Given the description of an element on the screen output the (x, y) to click on. 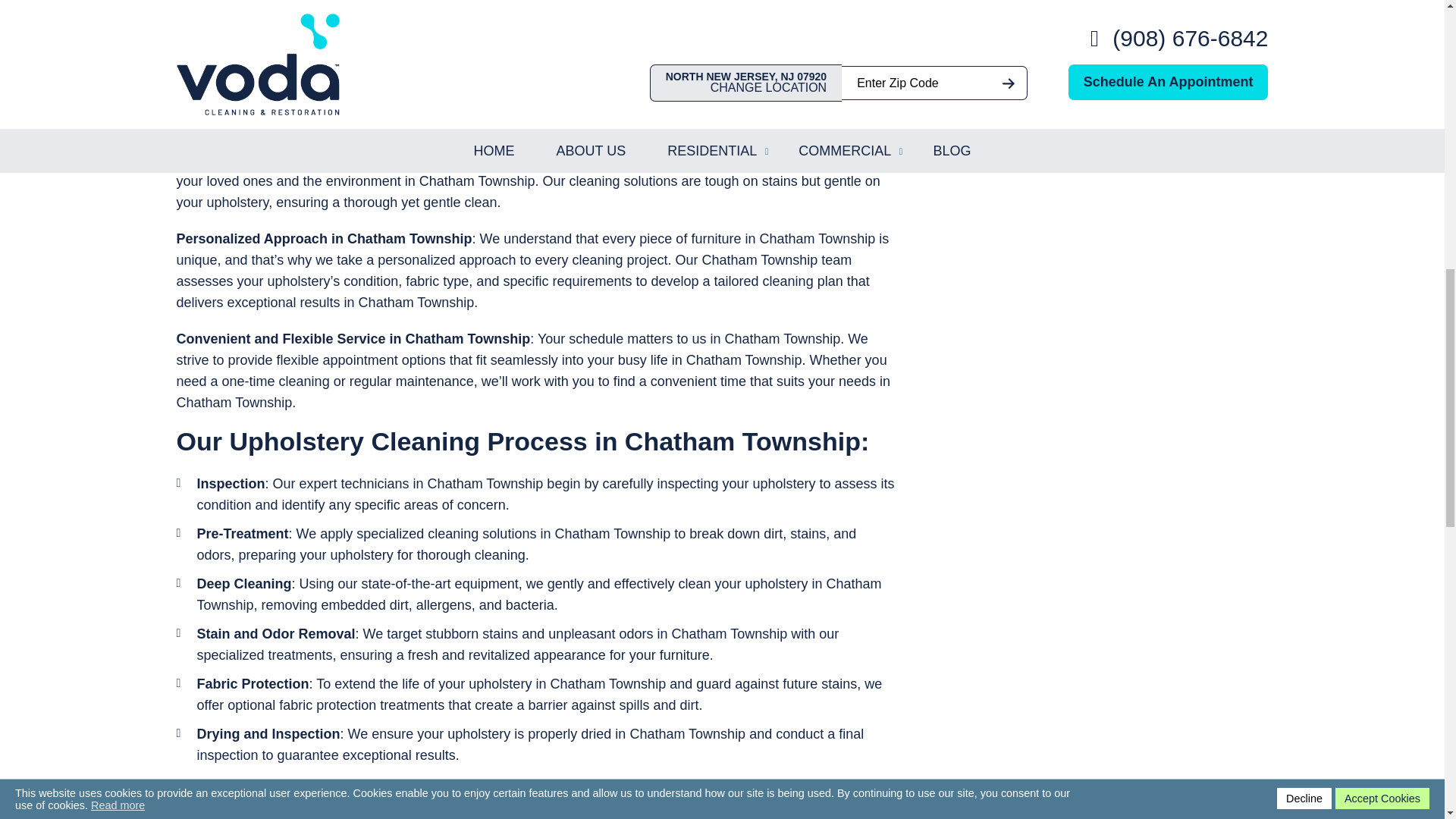
Submit (1093, 45)
schedule an appointment (371, 795)
Submit (1093, 45)
